Given the description of an element on the screen output the (x, y) to click on. 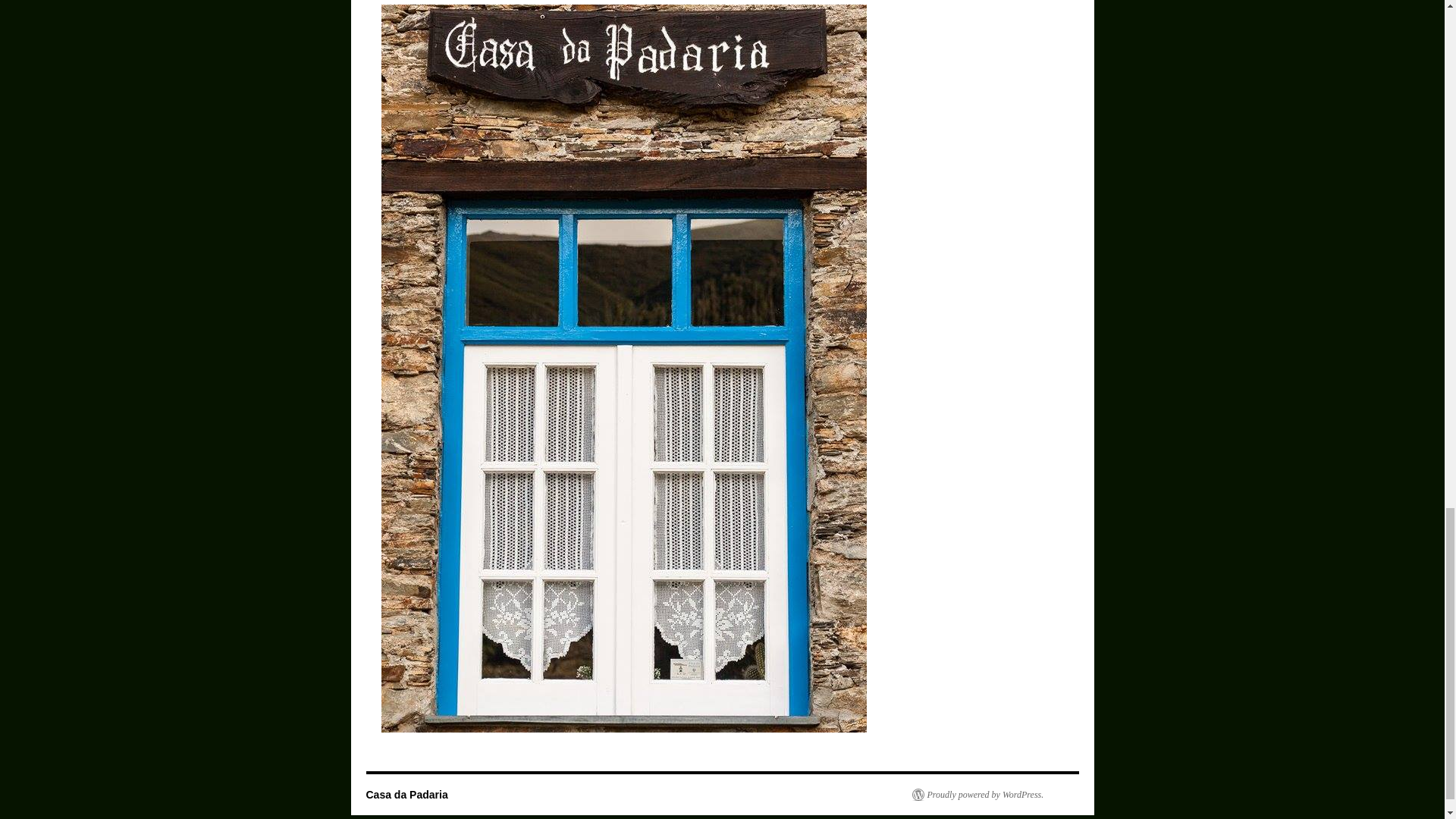
Semantic Personal Publishing Platform (977, 794)
Casa da Padaria (405, 794)
Casa da Padaria (405, 794)
Proudly powered by WordPress. (977, 794)
